Given the description of an element on the screen output the (x, y) to click on. 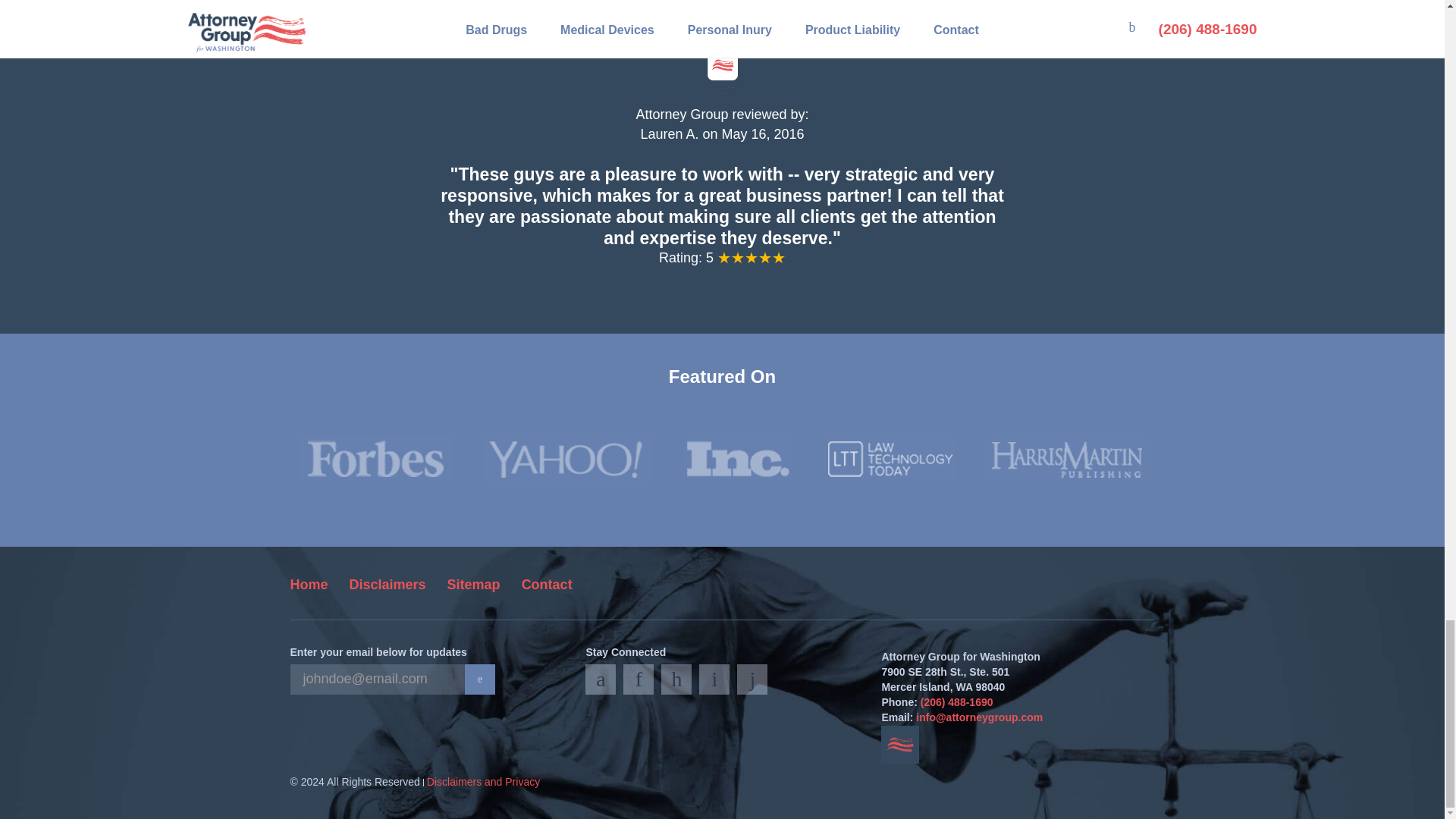
Home (308, 584)
